Given the description of an element on the screen output the (x, y) to click on. 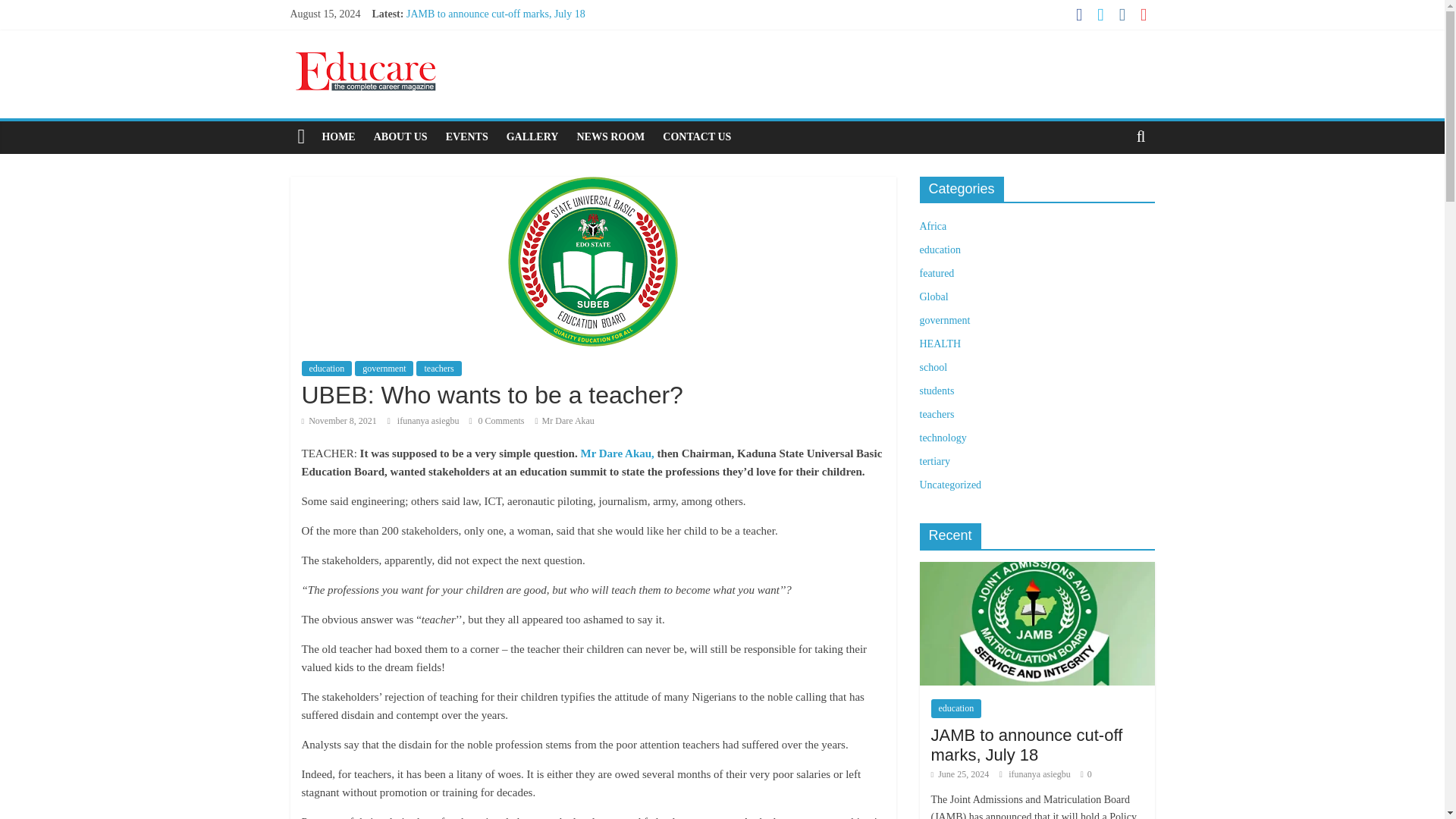
EVENTS (466, 137)
Mr Dare Akau, (615, 453)
November 8, 2021 (339, 420)
Mr Dare Akau (567, 420)
JAMB to announce cut-off marks, July 18 (495, 13)
teachers (438, 368)
NEWS ROOM (610, 137)
